Given the description of an element on the screen output the (x, y) to click on. 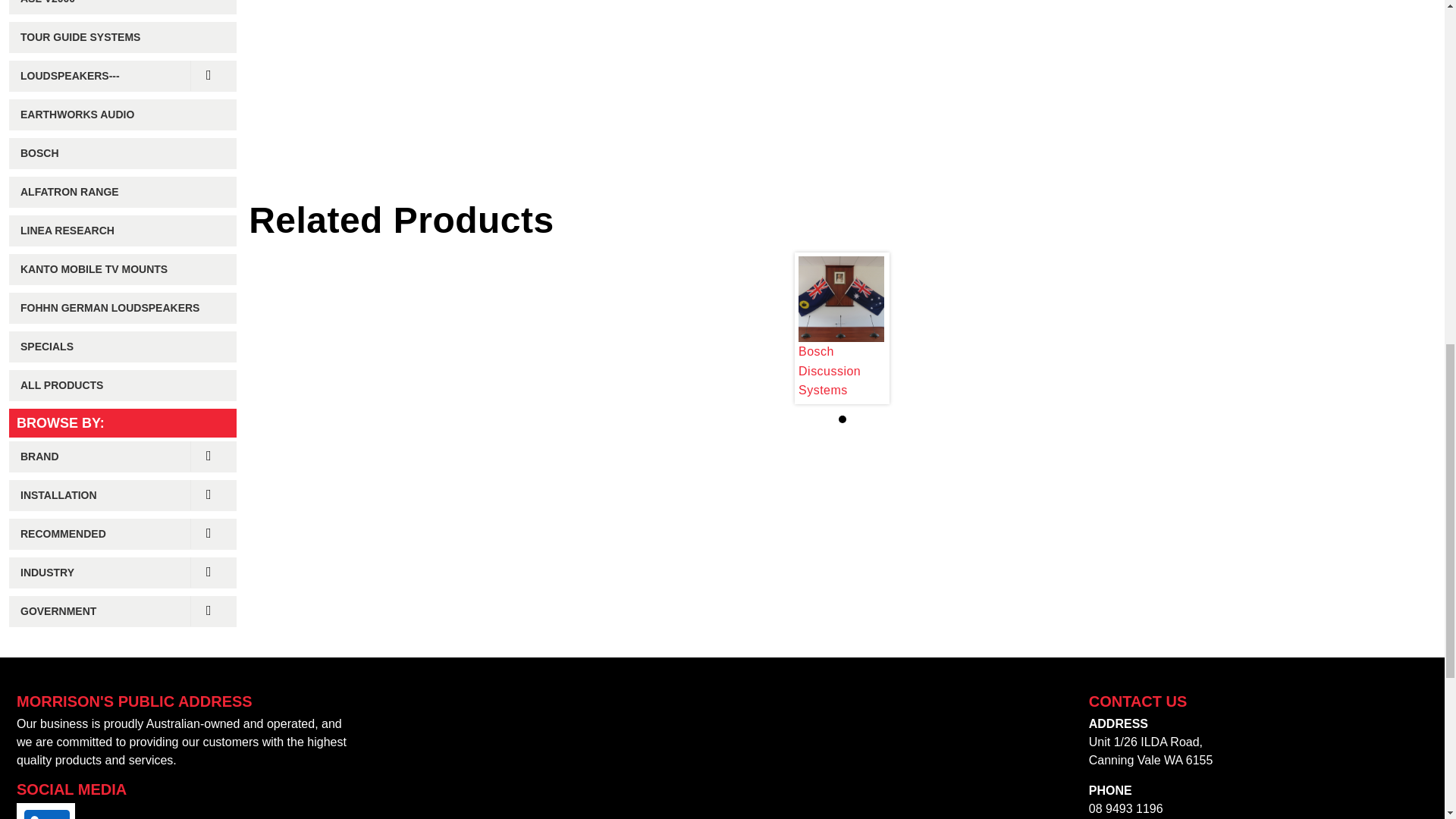
ASL V2000 (121, 7)
TOUR GUIDE SYSTEMS (121, 37)
LOUDSPEAKERS--- (121, 75)
